Given the description of an element on the screen output the (x, y) to click on. 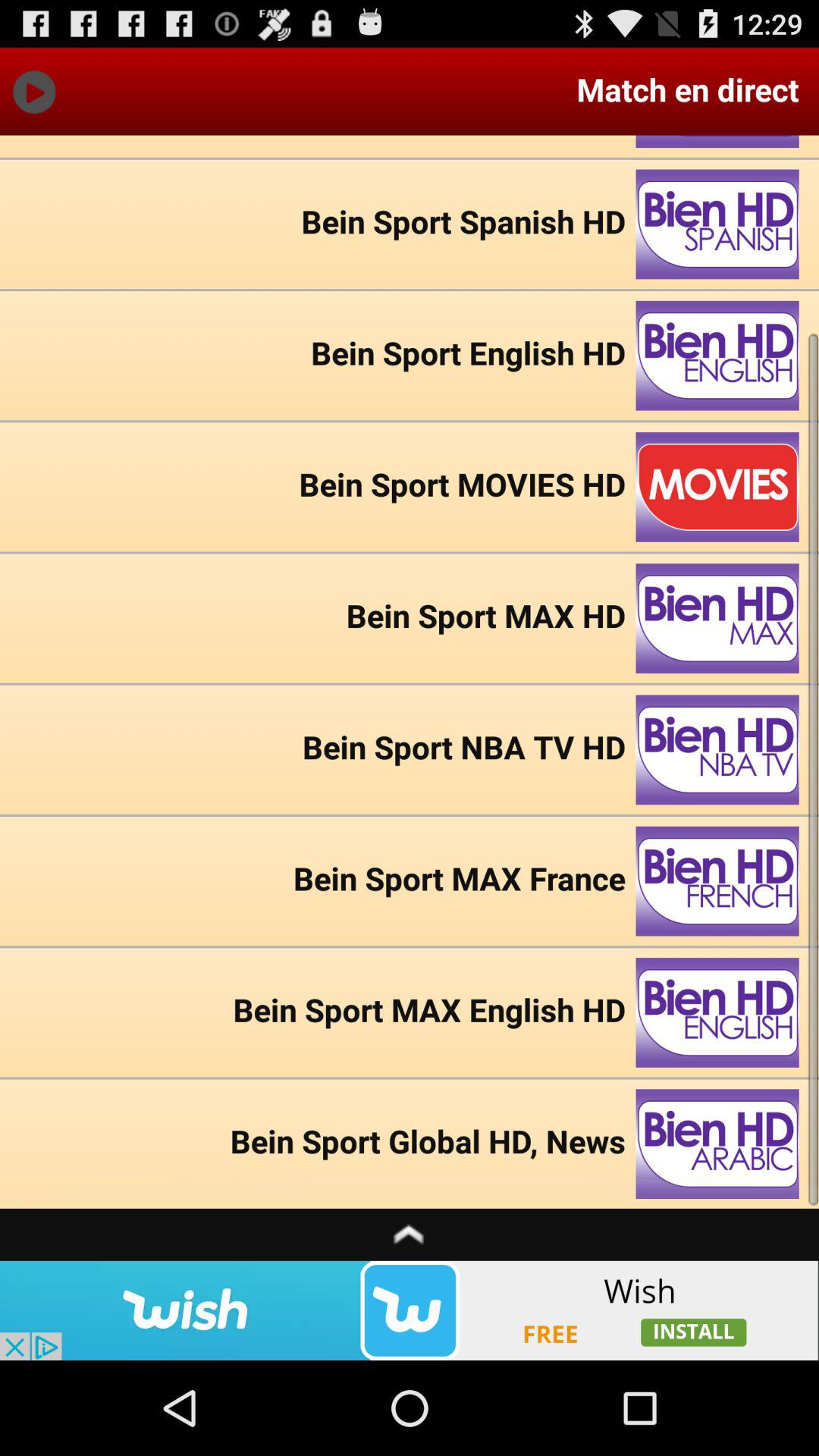
wish (409, 1310)
